Given the description of an element on the screen output the (x, y) to click on. 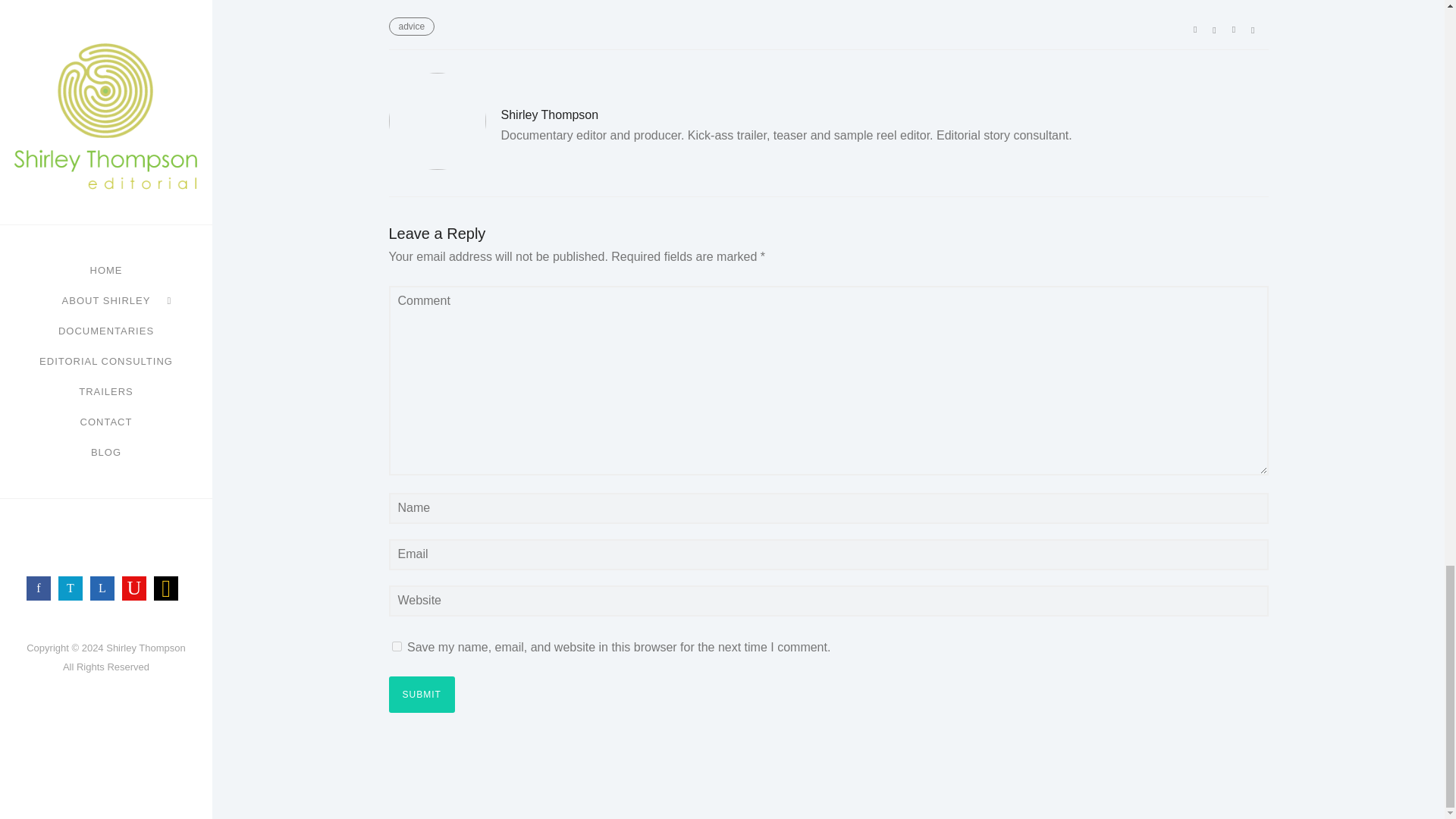
advice (410, 26)
Submit (421, 693)
yes (396, 645)
